Given the description of an element on the screen output the (x, y) to click on. 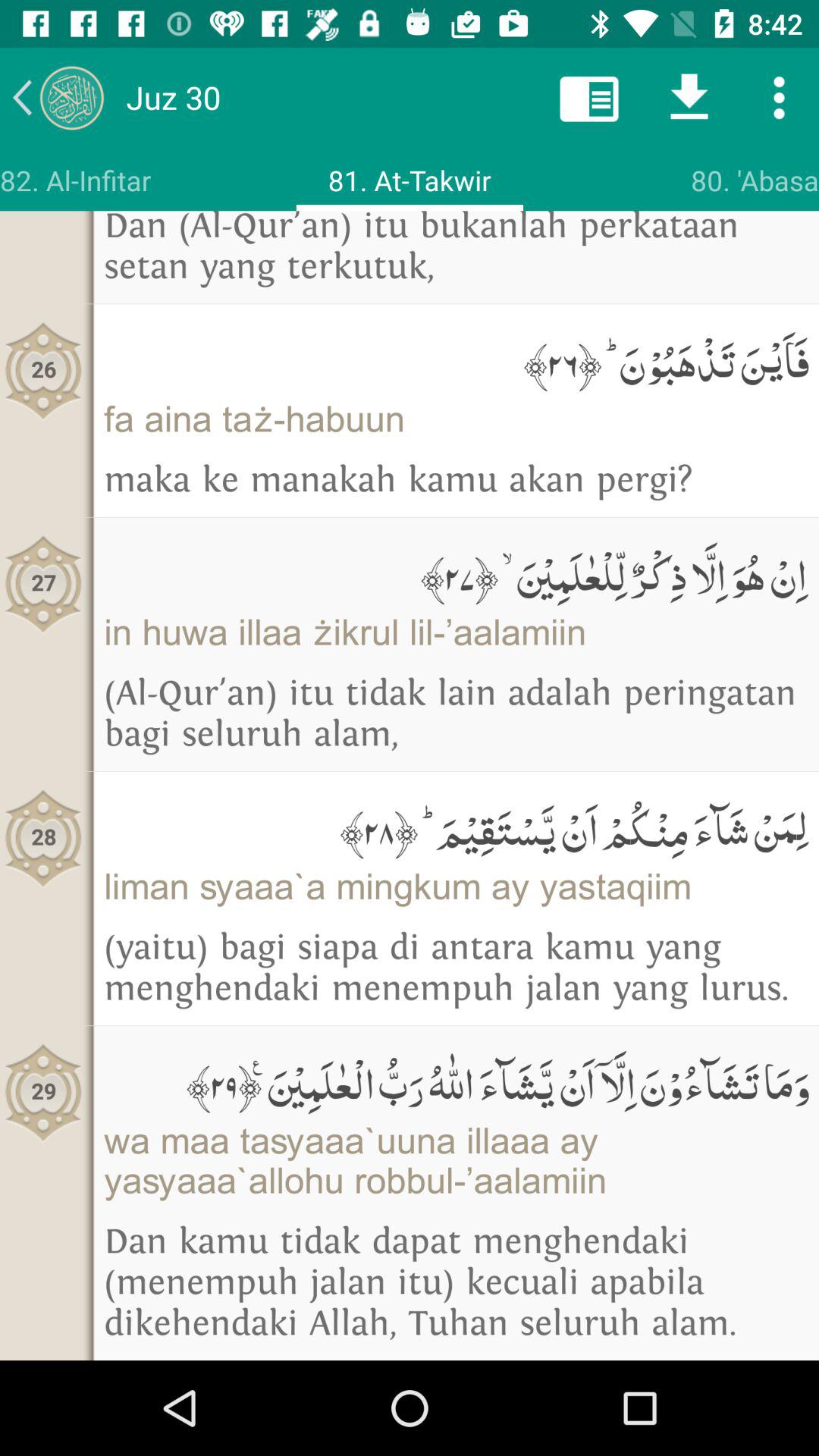
jump to the 82. al-infitar app (75, 180)
